Given the description of an element on the screen output the (x, y) to click on. 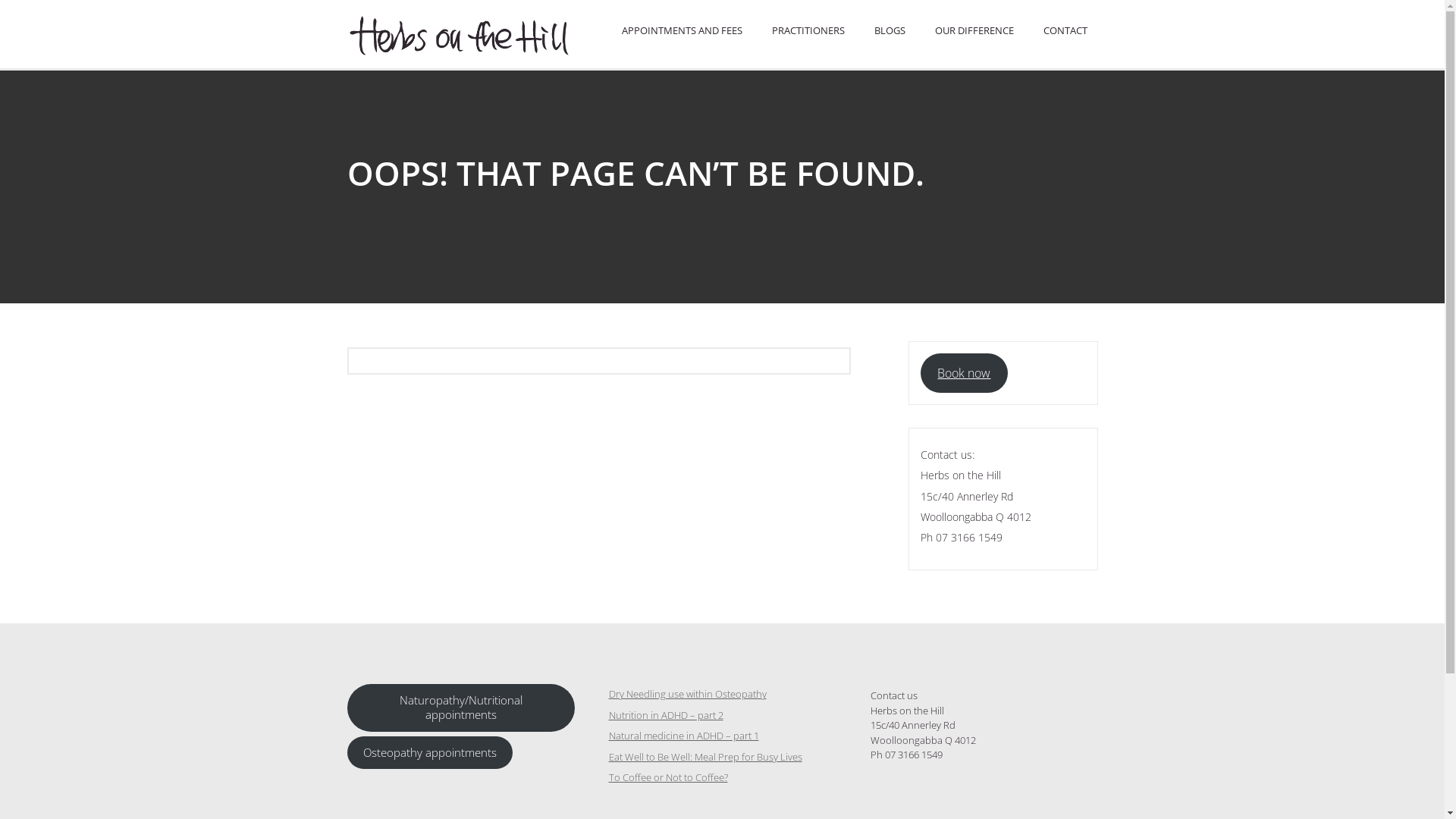
To Coffee or Not to Coffee? Element type: text (667, 777)
Search Element type: text (21, 7)
APPOINTMENTS AND FEES Element type: text (682, 30)
OUR DIFFERENCE Element type: text (973, 30)
Dry Needling use within Osteopathy Element type: text (686, 693)
Book now Element type: text (964, 372)
Eat Well to Be Well: Meal Prep for Busy Lives Element type: text (704, 756)
Osteopathy appointments Element type: text (430, 752)
PRACTITIONERS Element type: text (808, 30)
CONTACT Element type: text (1065, 30)
BLOGS Element type: text (888, 30)
Naturopathy/Nutritional appointments Element type: text (460, 707)
